Given the description of an element on the screen output the (x, y) to click on. 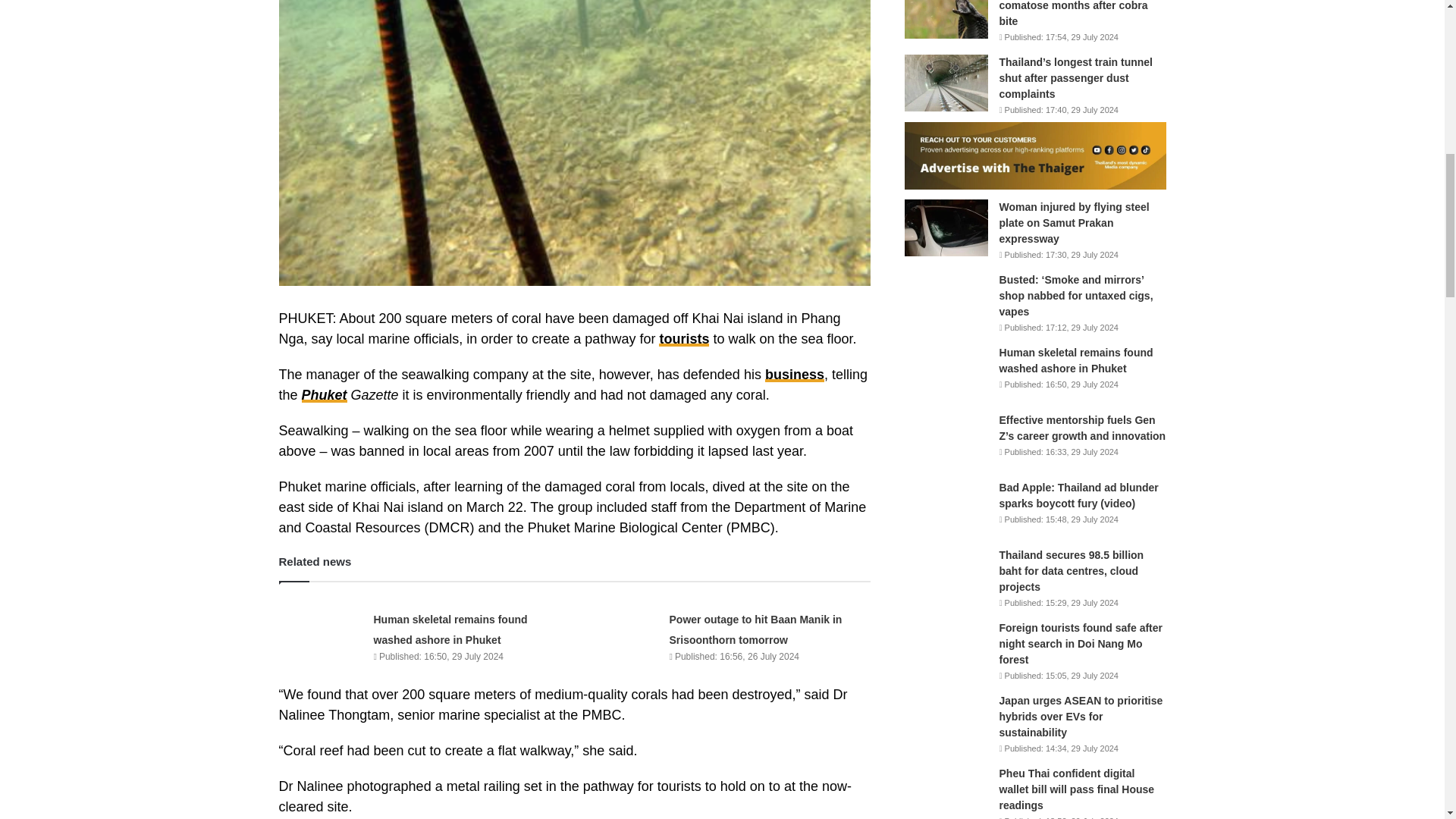
Business (794, 374)
Tourism (684, 338)
Phuket (324, 394)
